Given the description of an element on the screen output the (x, y) to click on. 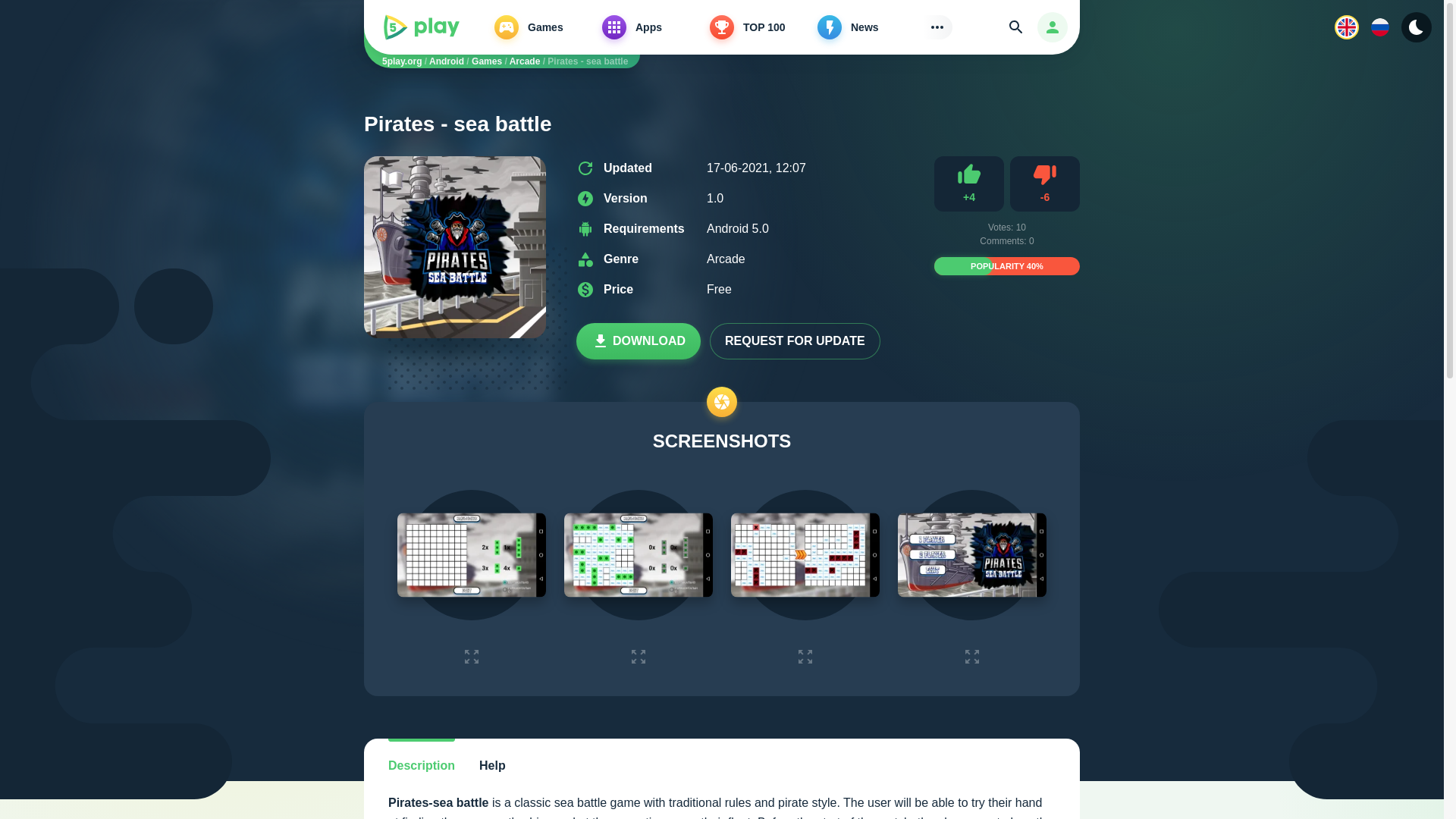
Find (1015, 27)
5play (421, 27)
Games (545, 27)
5play.org (401, 61)
Arcade (524, 61)
REQUEST FOR UPDATE (795, 340)
Authorization (1051, 27)
News (867, 27)
Help (492, 765)
